Given the description of an element on the screen output the (x, y) to click on. 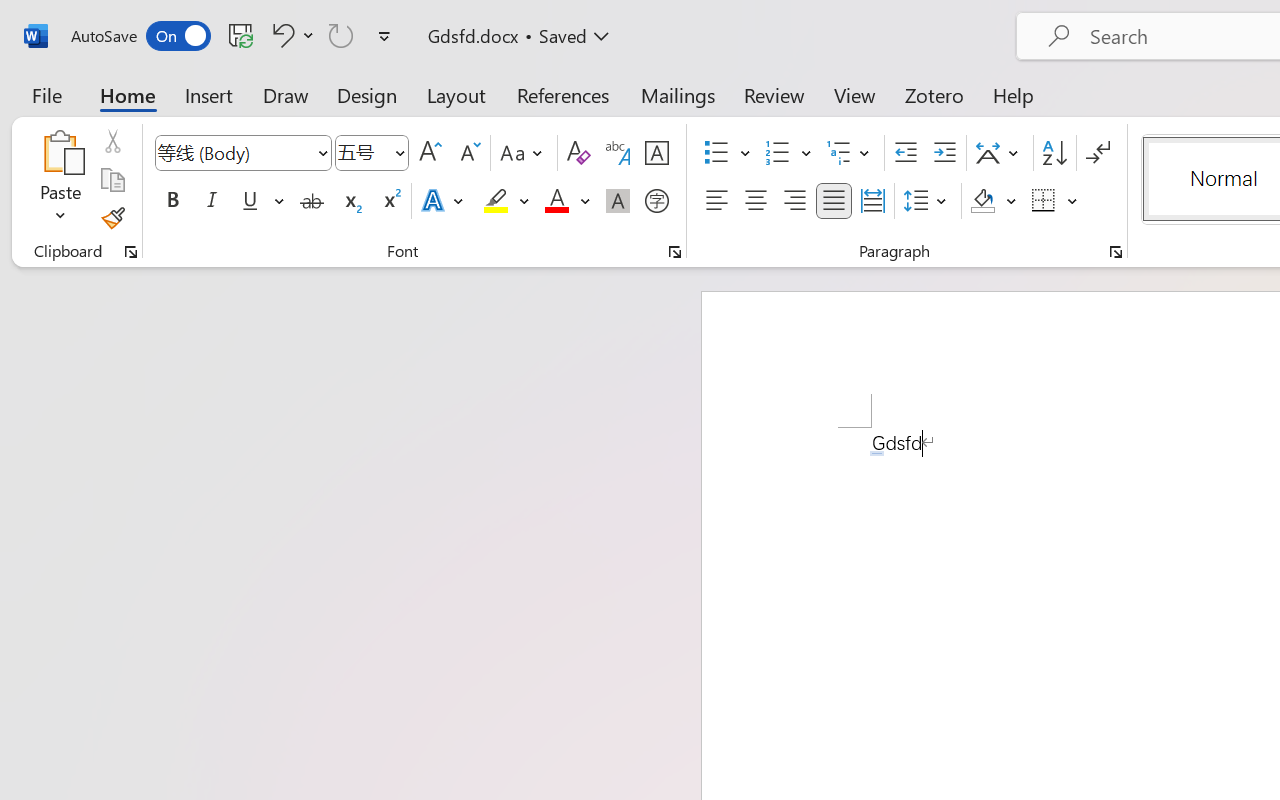
Line and Paragraph Spacing (927, 201)
Text Highlight Color Yellow (495, 201)
Character Border (656, 153)
Asian Layout (1000, 153)
Align Left (716, 201)
Italic (212, 201)
Cut (112, 141)
Bold (172, 201)
